Given the description of an element on the screen output the (x, y) to click on. 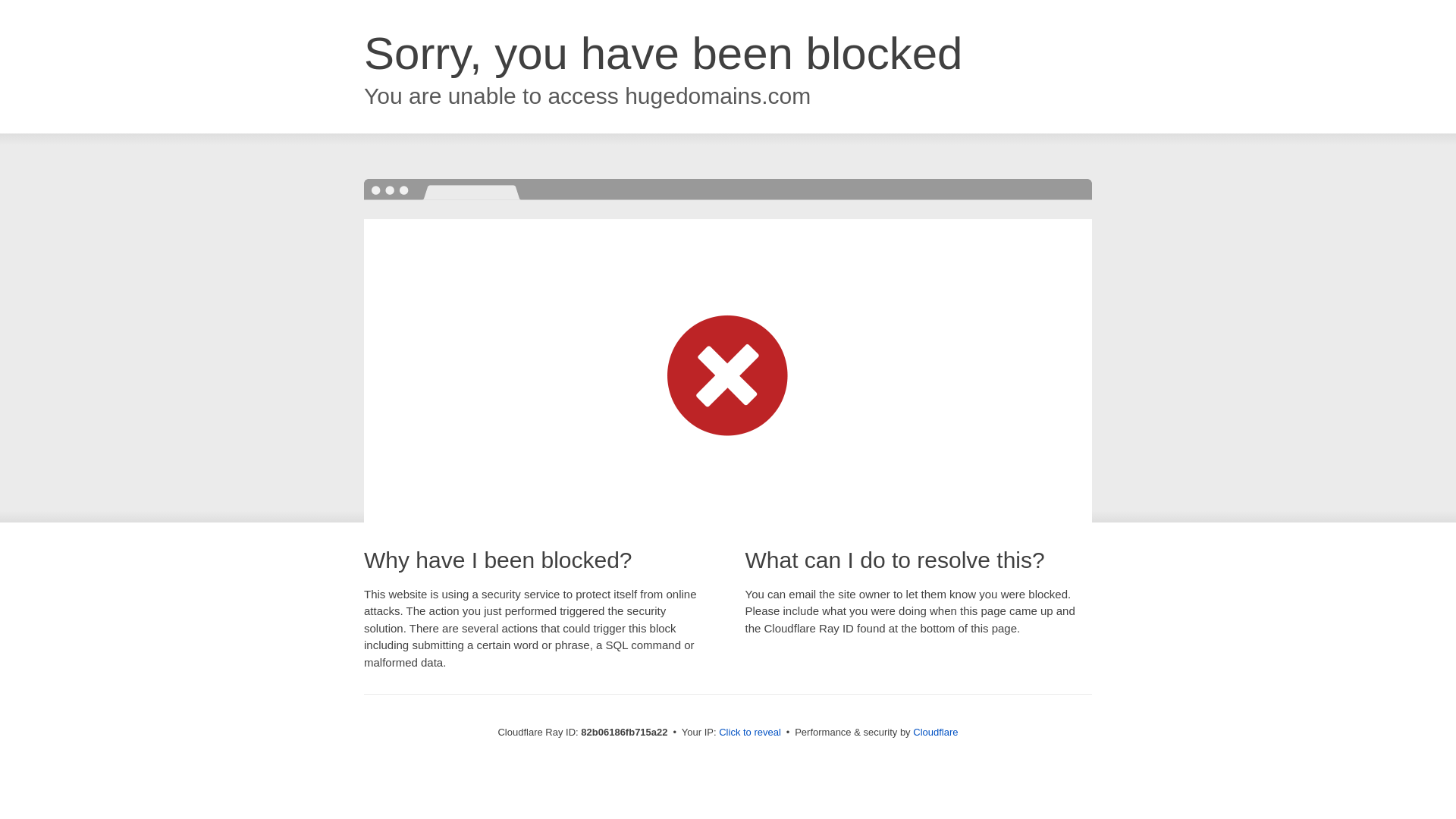
Click to reveal Element type: text (749, 732)
Cloudflare Element type: text (935, 731)
